Given the description of an element on the screen output the (x, y) to click on. 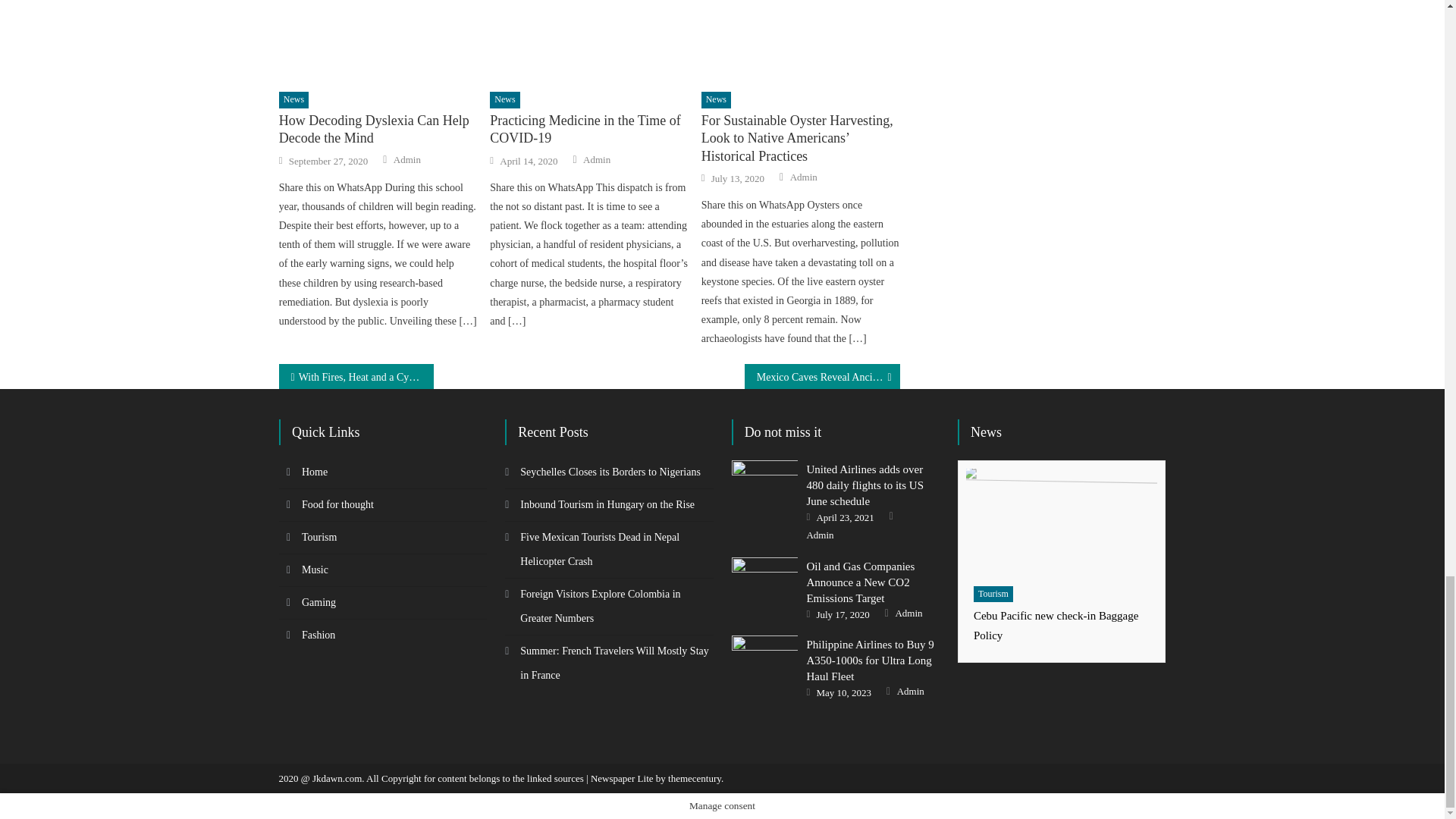
Cebu Pacific new check-in Baggage Policy (1061, 522)
Oil and Gas Companies Announce a New CO2 Emissions Target (764, 581)
How Decoding Dyslexia Can Help Decode the Mind (378, 41)
Practicing Medicine in the Time of COVID-19 (588, 41)
